Given the description of an element on the screen output the (x, y) to click on. 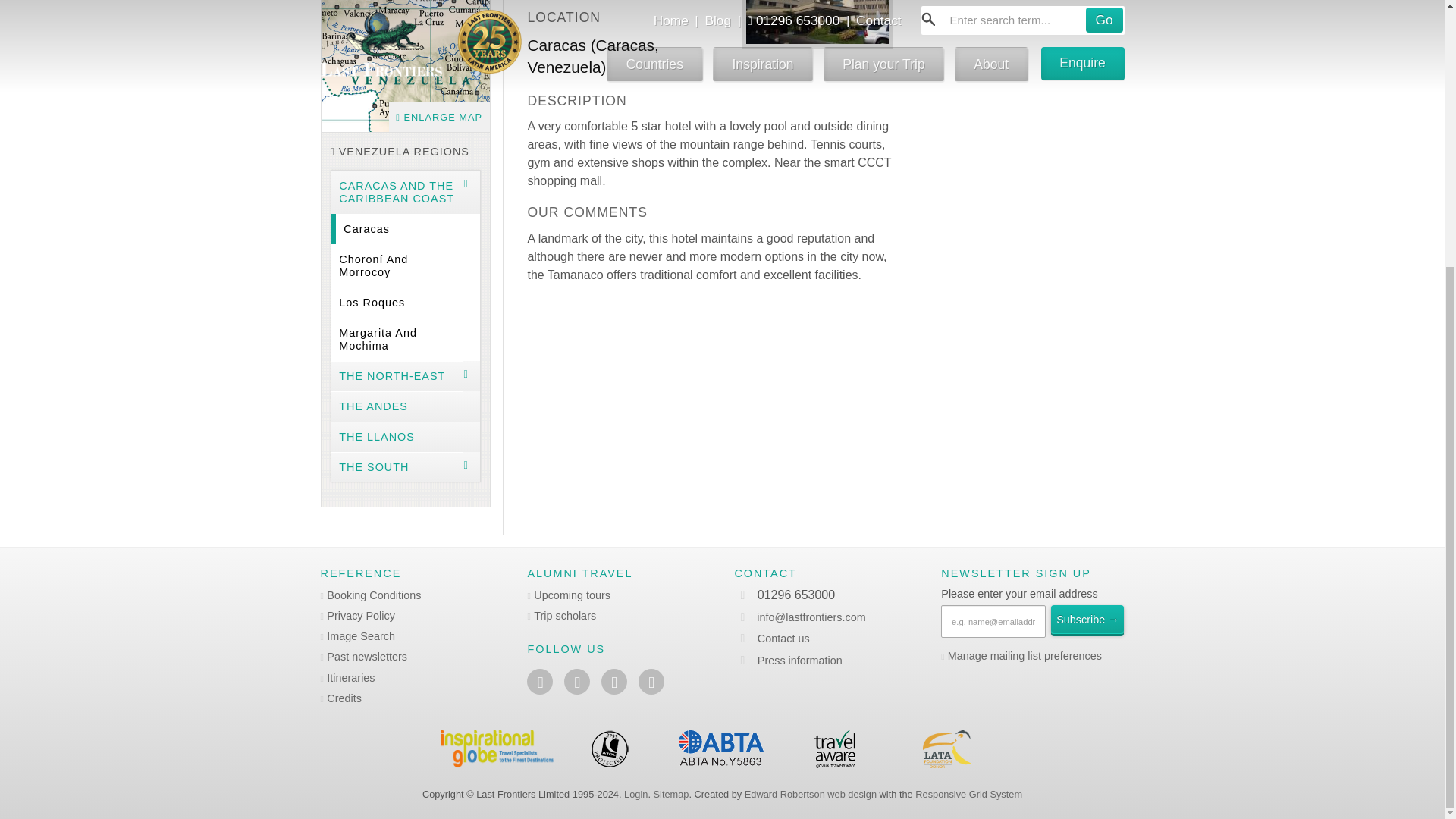
LATA Foundation - Donor logo (947, 749)
We are members of ABTA (721, 749)
Venezuela region map (404, 65)
